Given the description of an element on the screen output the (x, y) to click on. 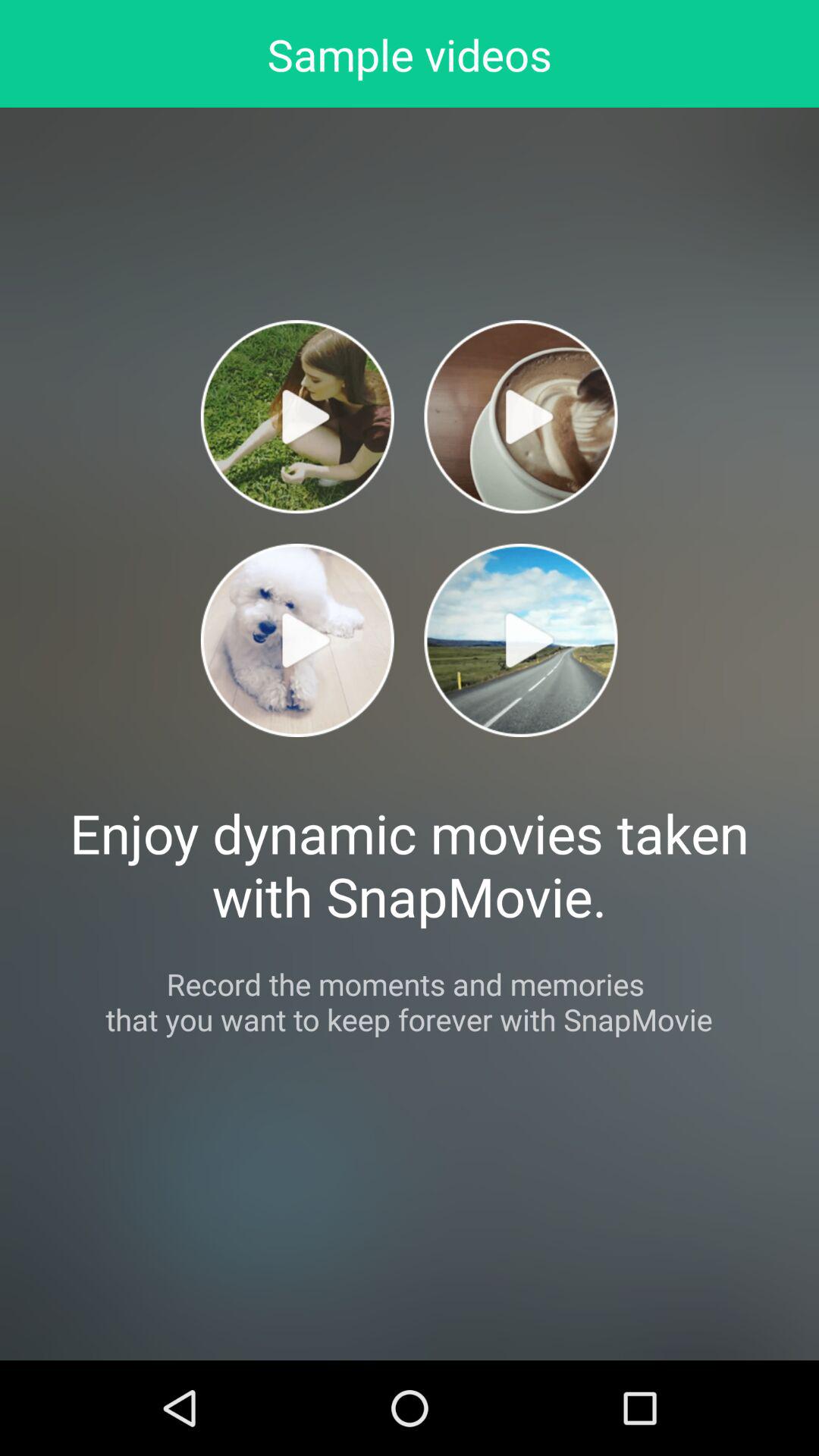
play top left video (297, 416)
